Given the description of an element on the screen output the (x, y) to click on. 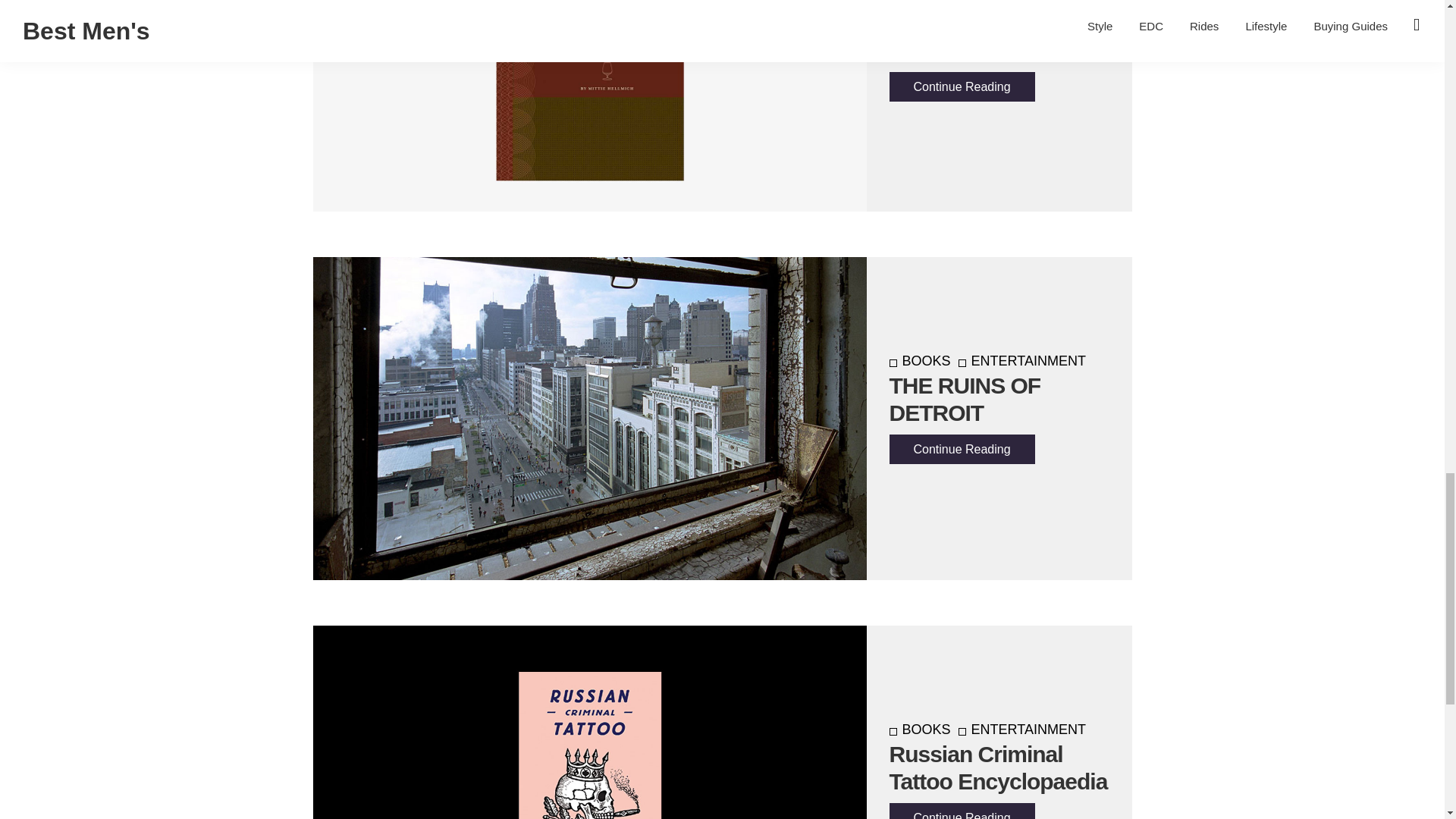
Continue Reading (960, 811)
THE ULTIMATE BAR BOOK (992, 36)
ENTERTAINMENT (1022, 360)
ENTERTAINMENT (1022, 2)
Continue Reading (960, 449)
Russian Criminal Tattoo Encyclopaedia (997, 767)
BOOKS (919, 729)
ENTERTAINMENT (1022, 729)
BOOKS (919, 360)
Continue Reading (960, 86)
BOOKS (919, 2)
THE RUINS OF DETROIT (964, 399)
